Given the description of an element on the screen output the (x, y) to click on. 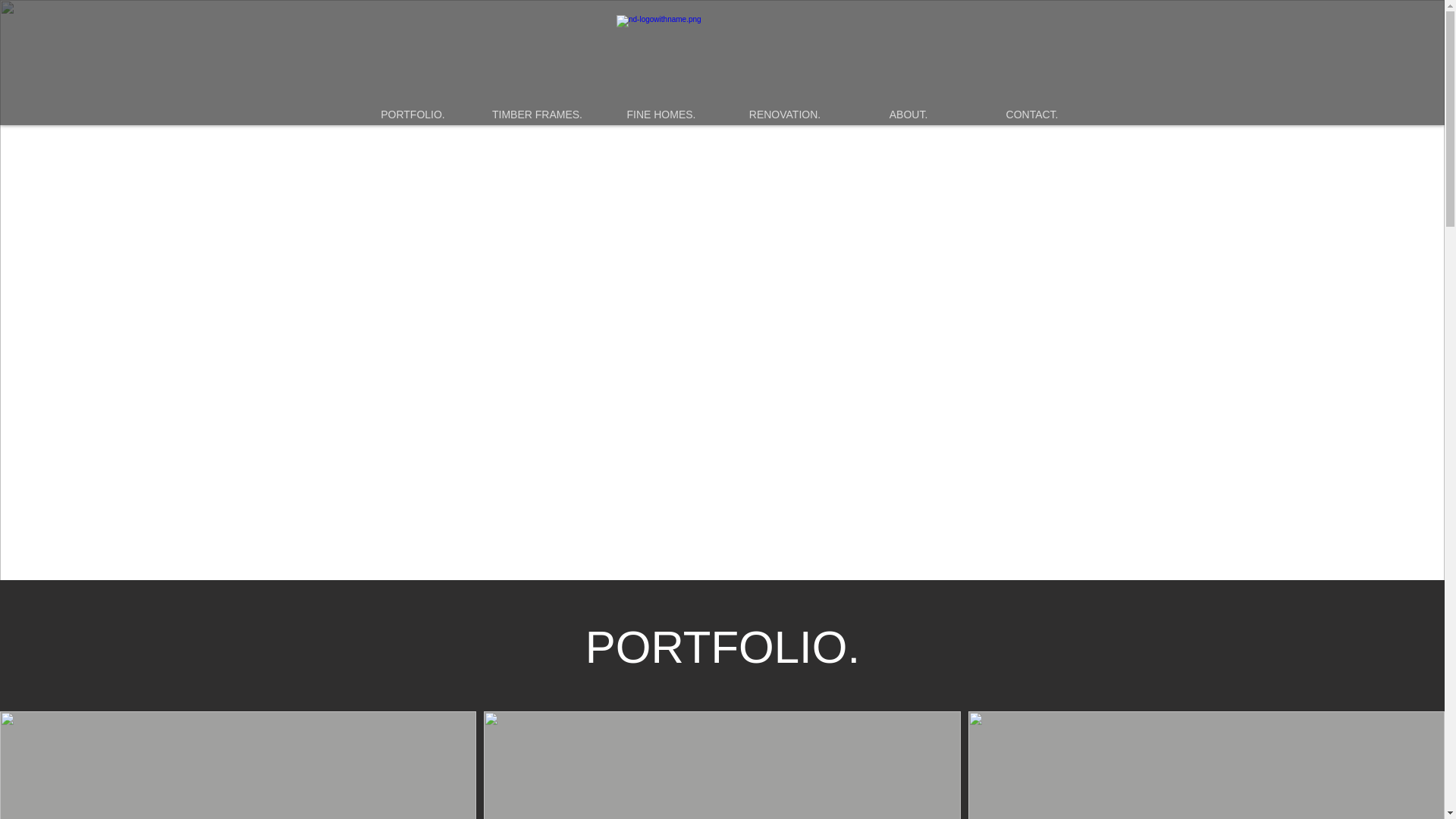
PORTFOLIO. (412, 114)
FINE HOMES. (660, 114)
TIMBER FRAMES. (536, 114)
CONTACT. (1032, 114)
RENOVATION. (785, 114)
ABOUT. (907, 114)
